Given the description of an element on the screen output the (x, y) to click on. 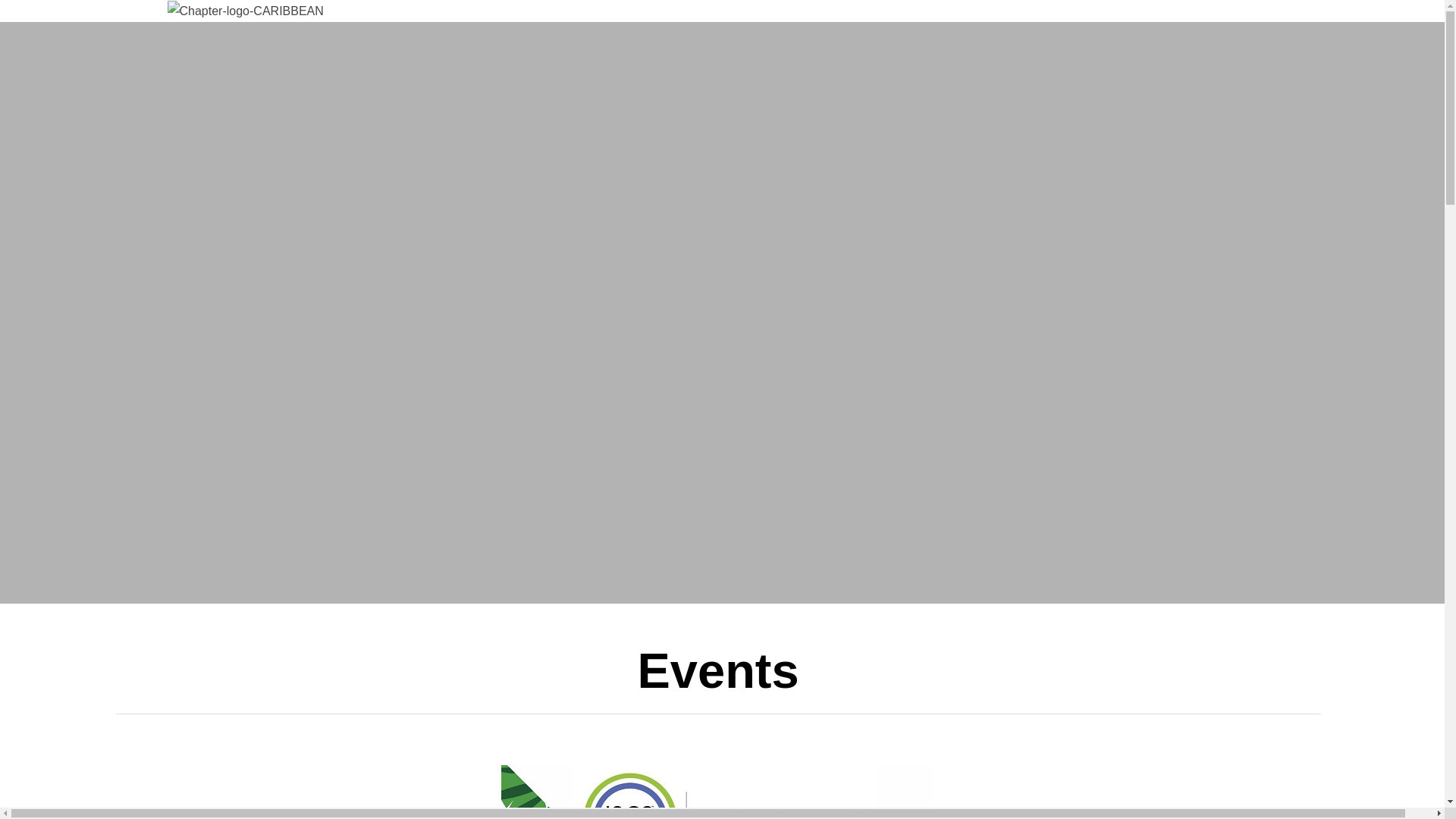
Chapter-logo-CARIBBEAN (245, 11)
